Given the description of an element on the screen output the (x, y) to click on. 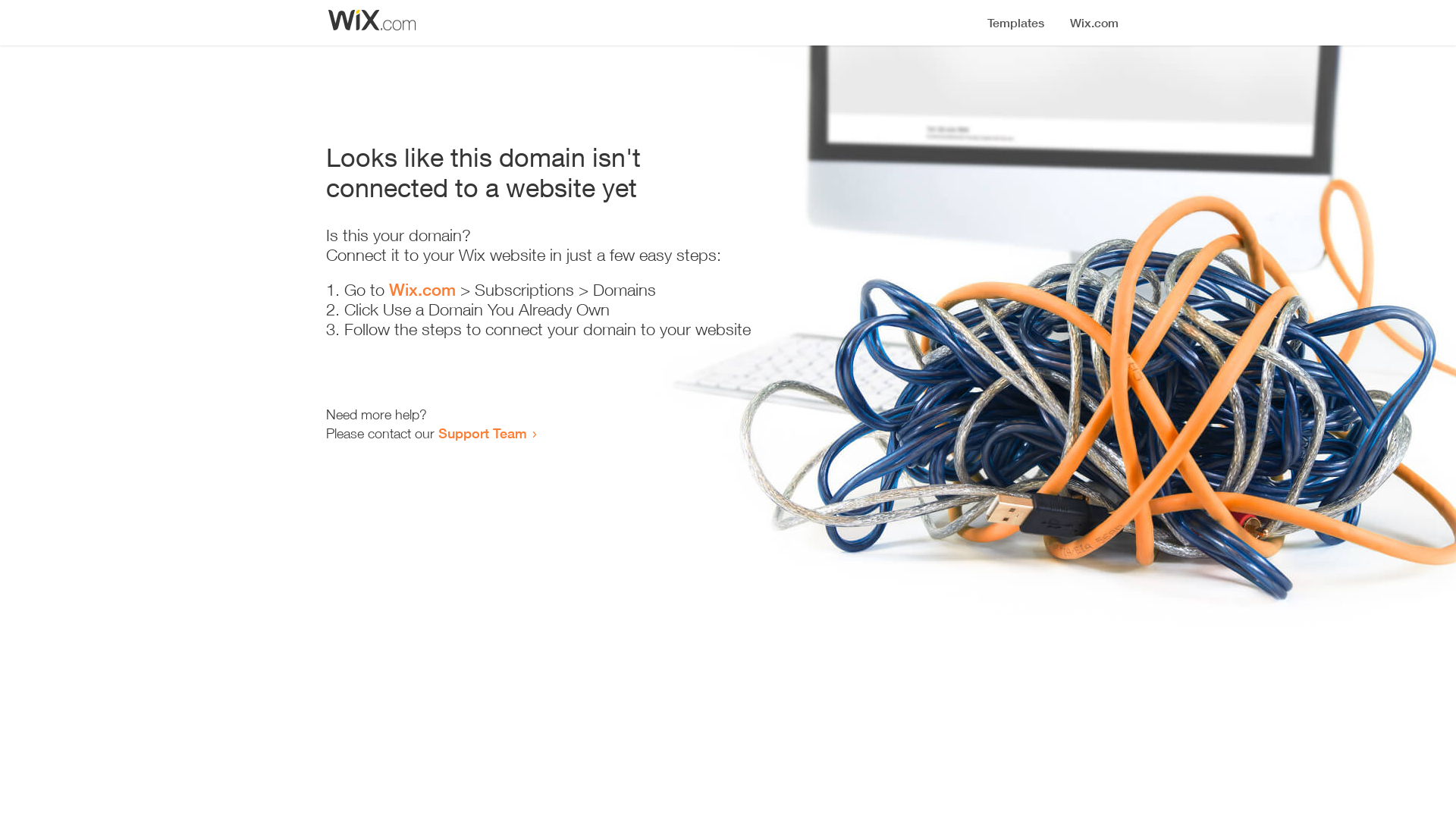
Support Team Element type: text (482, 432)
Wix.com Element type: text (422, 289)
